Given the description of an element on the screen output the (x, y) to click on. 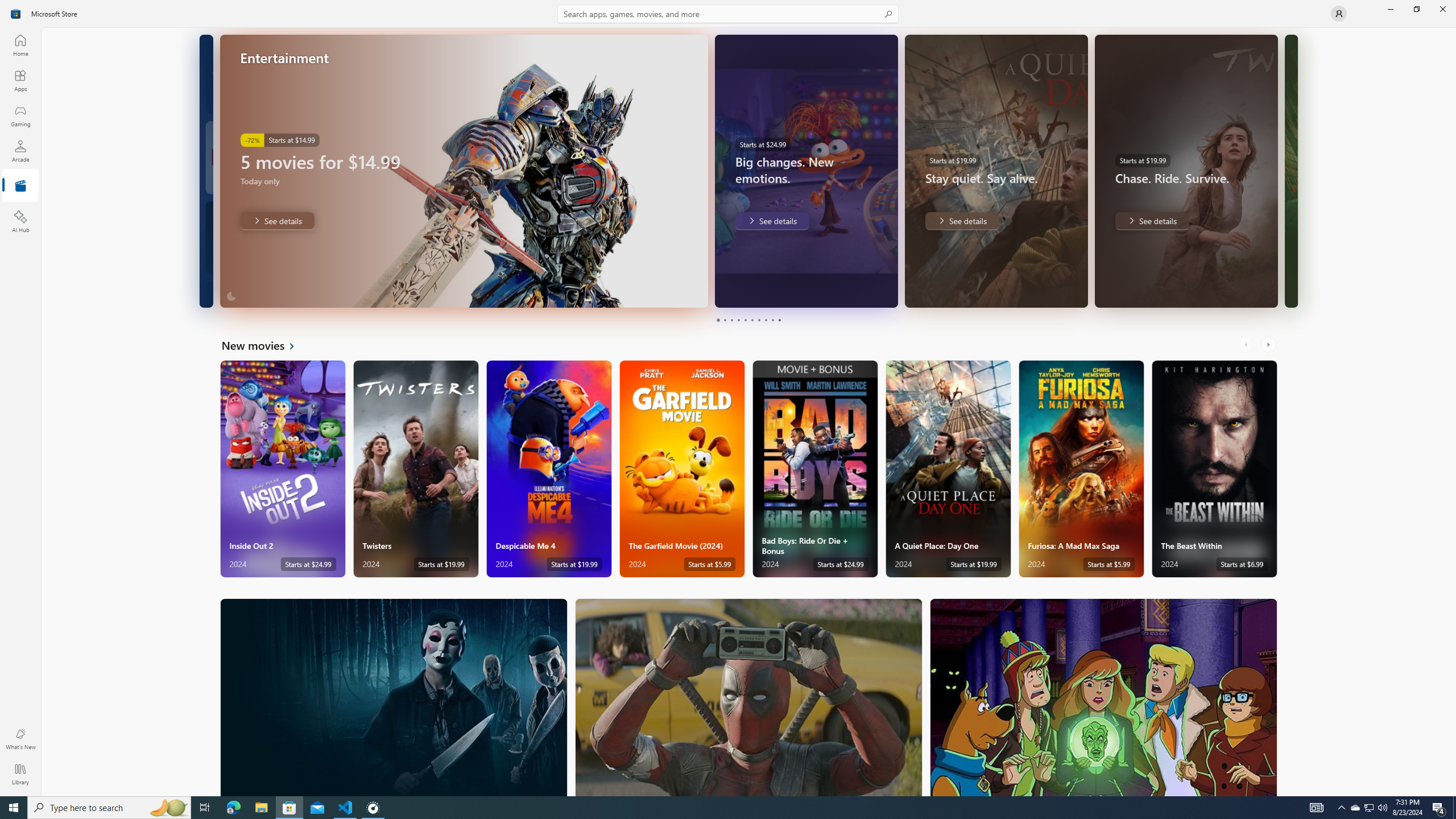
AutomationID: NavigationControl (728, 398)
Arcade (20, 150)
Family (1102, 697)
Page 2 (724, 319)
Page 5 (744, 319)
AutomationID: RightScrollButton (1269, 344)
Action & Adventure (749, 697)
Library (20, 773)
Page 6 (751, 319)
Apps (20, 80)
